Given the description of an element on the screen output the (x, y) to click on. 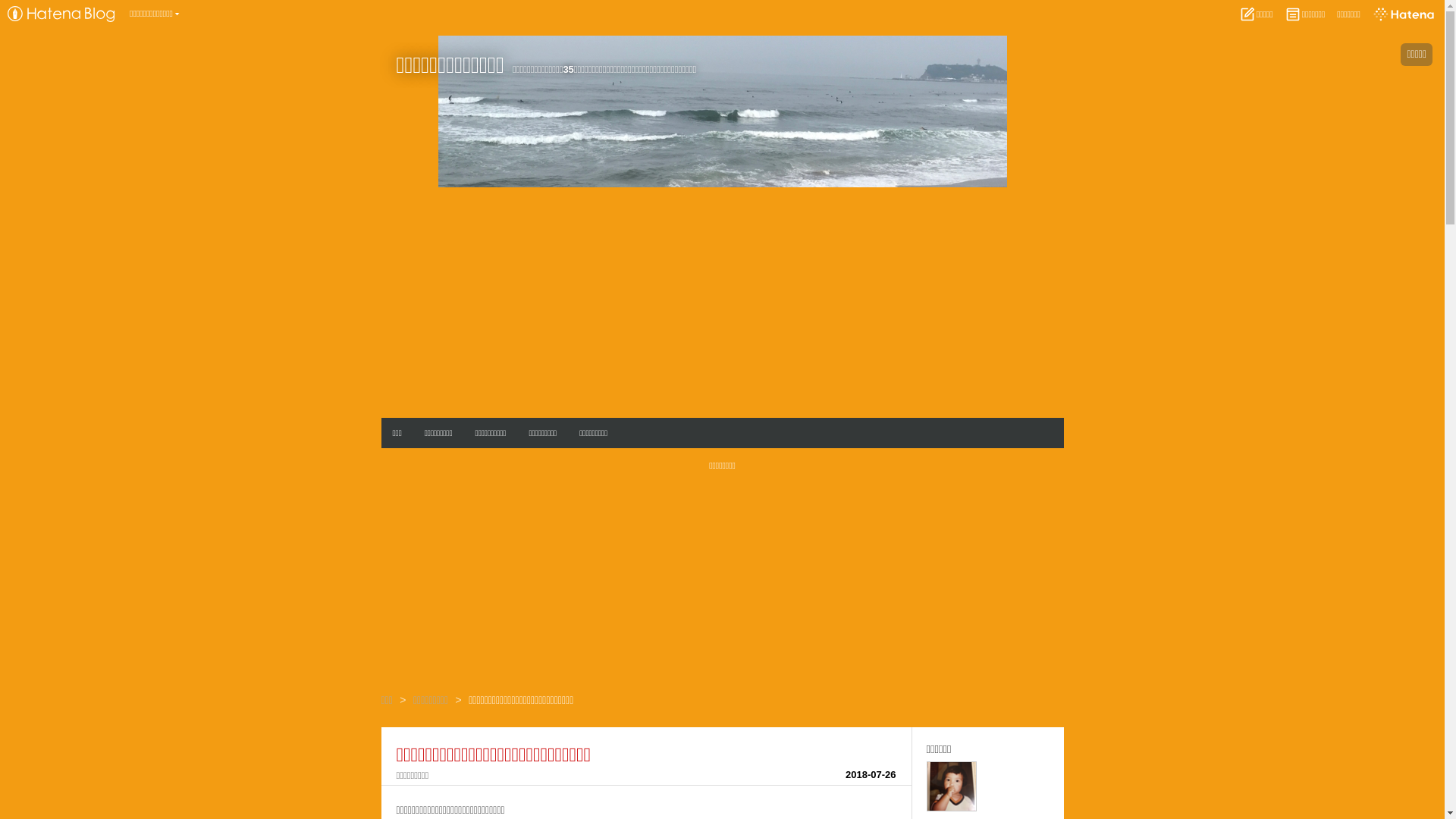
2018-07-26 Element type: text (870, 774)
Advertisement Element type: hover (721, 587)
Advertisement Element type: hover (721, 300)
